Given the description of an element on the screen output the (x, y) to click on. 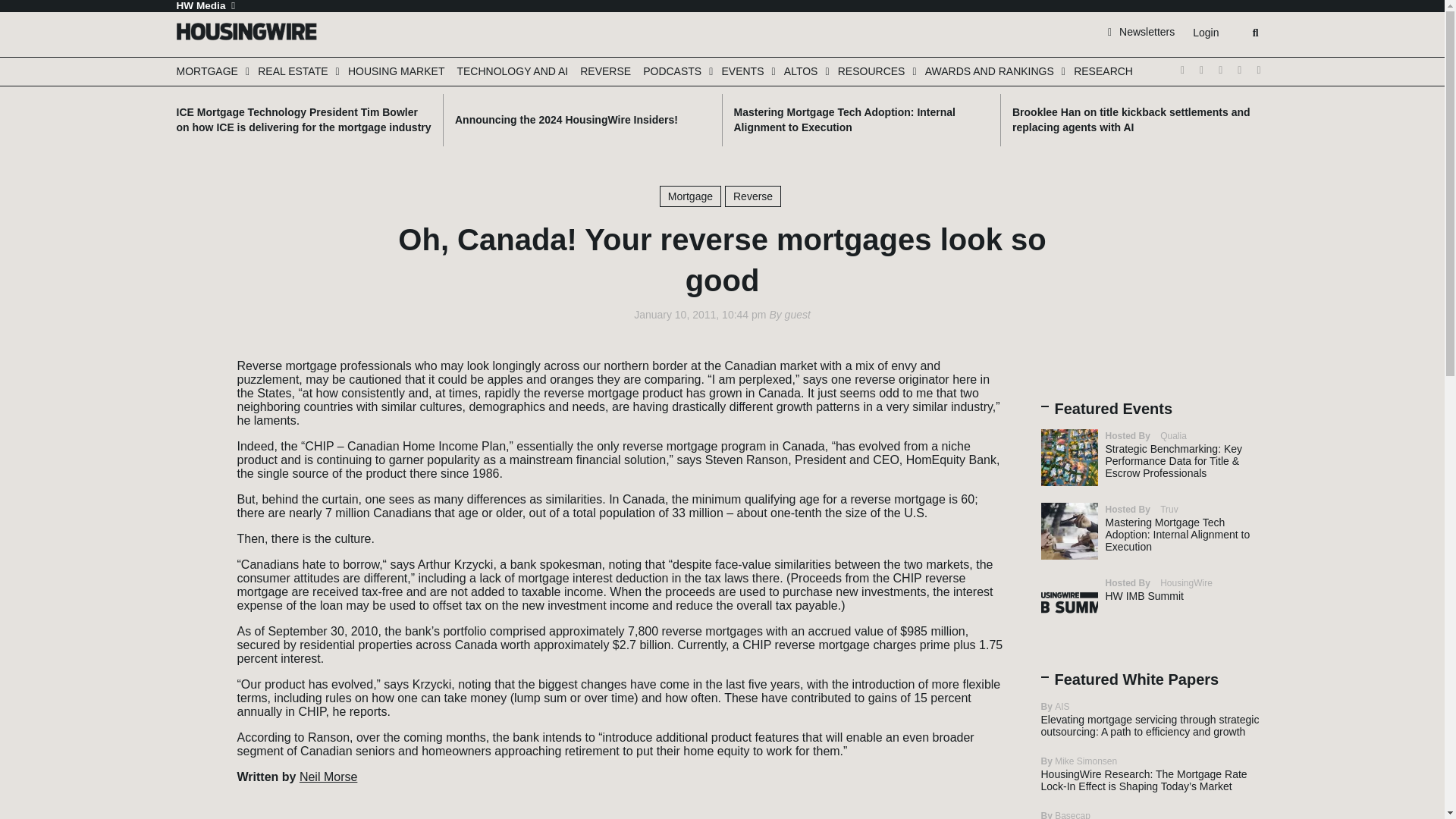
Newsletters (1141, 31)
Click to email a link to a friend (192, 429)
Posts by guest (797, 314)
Click to copy link (192, 452)
Click to share on LinkedIn (192, 406)
Click to share on Facebook (192, 383)
Click to share on Twitter (192, 360)
Login (1205, 32)
